Given the description of an element on the screen output the (x, y) to click on. 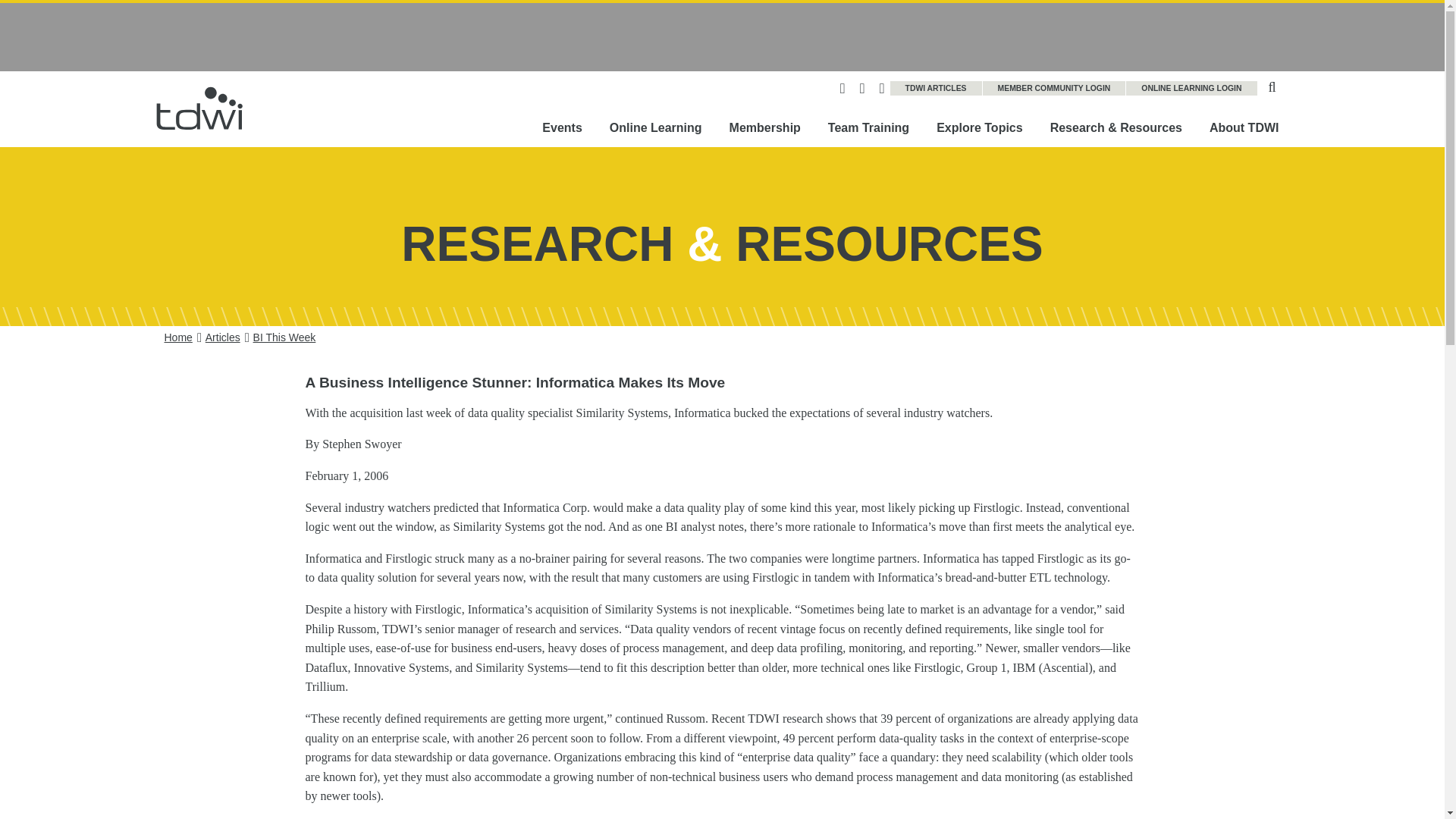
Events (561, 127)
3rd party ad content (721, 37)
Explore Topics (979, 127)
ONLINE LEARNING LOGIN (1191, 88)
Team Training (868, 127)
Search (1272, 84)
Membership (764, 127)
Online Learning (655, 127)
TDWI ARTICLES (935, 88)
MEMBER COMMUNITY LOGIN (1054, 88)
